Given the description of an element on the screen output the (x, y) to click on. 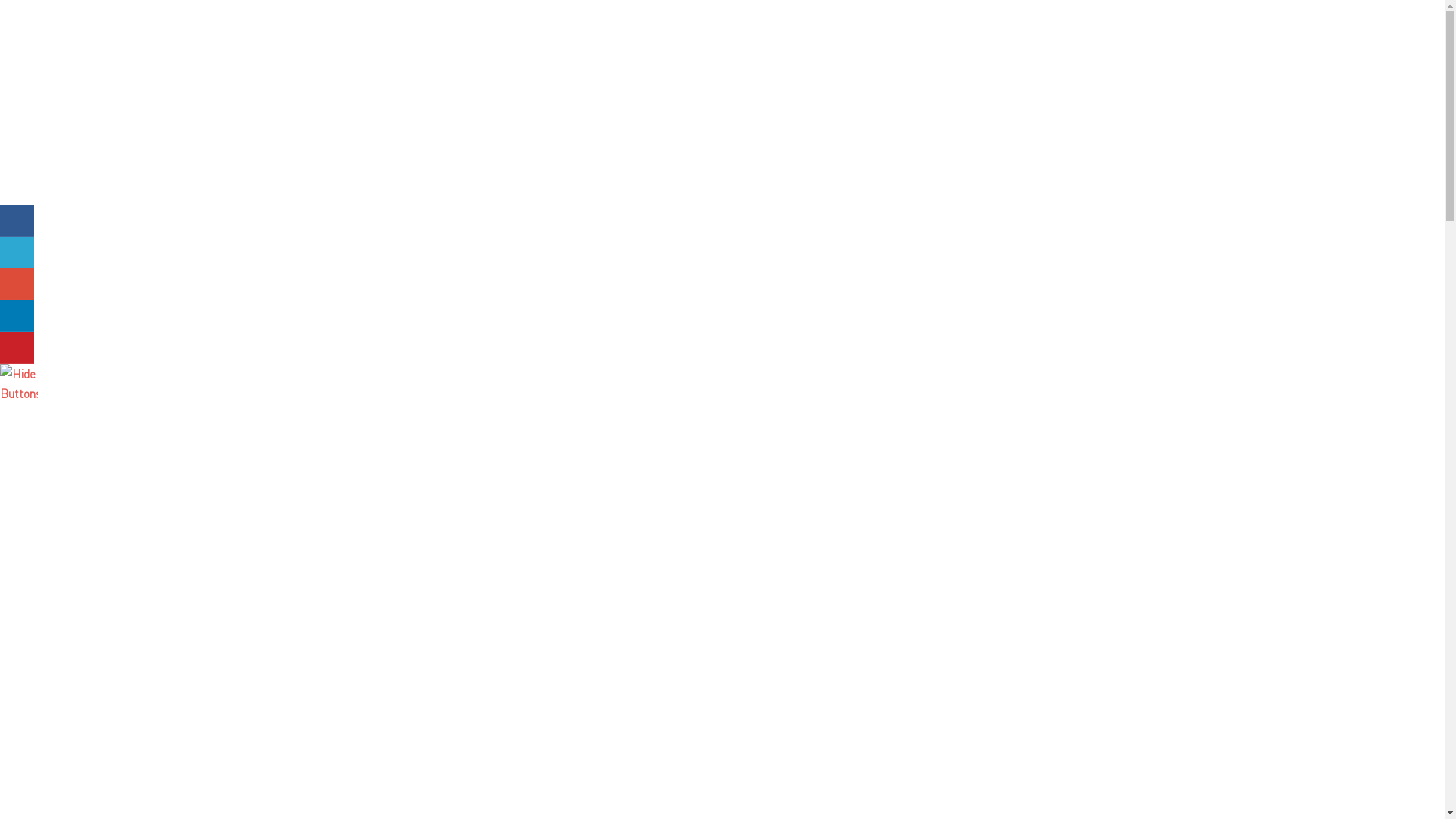
EXPERIENCES Element type: text (697, 143)
Share On Pinterest Element type: hover (17, 348)
Share On Facebook Element type: hover (17, 220)
Coorong Wild Seafood Element type: text (537, 95)
HOME Element type: text (488, 143)
CONTACT Element type: text (945, 143)
Share On Twitter Element type: hover (17, 252)
Share On Google Plus Element type: hover (17, 284)
SUSTAINABILITY Element type: text (831, 143)
Share This With Your Friends Element type: hover (18, 303)
Hide Buttons Element type: hover (18, 393)
Share On Linkedin Element type: hover (17, 316)
img-2 Element type: hover (722, 605)
SEAFOOD Element type: text (578, 143)
